Given the description of an element on the screen output the (x, y) to click on. 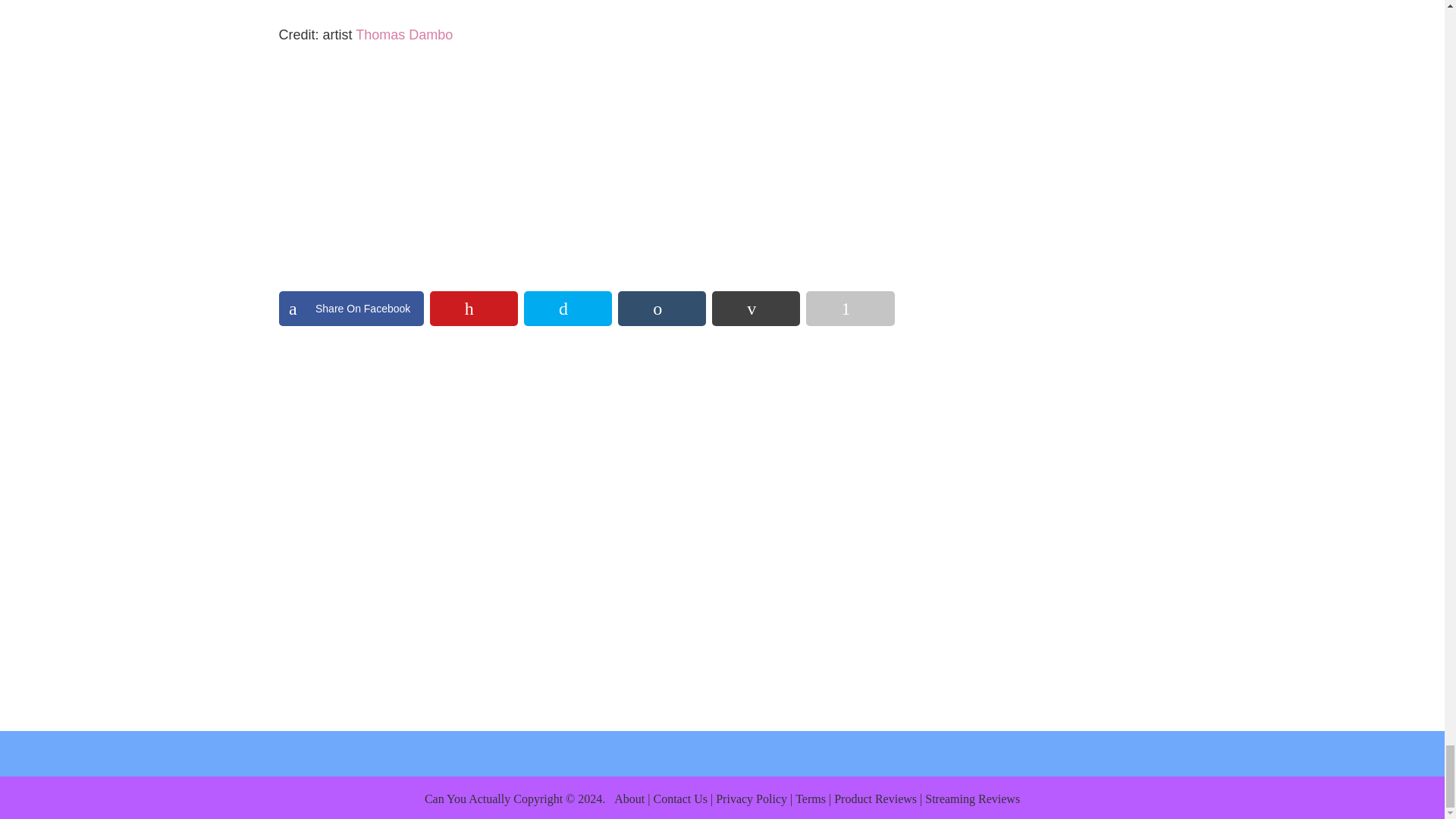
Share on - (567, 308)
Share on Share On Facebook (351, 308)
Share on - (849, 308)
Share on - (661, 308)
Share On Facebook (351, 308)
Thomas Dambo (403, 34)
Share on - (473, 308)
Share on - (755, 308)
